Given the description of an element on the screen output the (x, y) to click on. 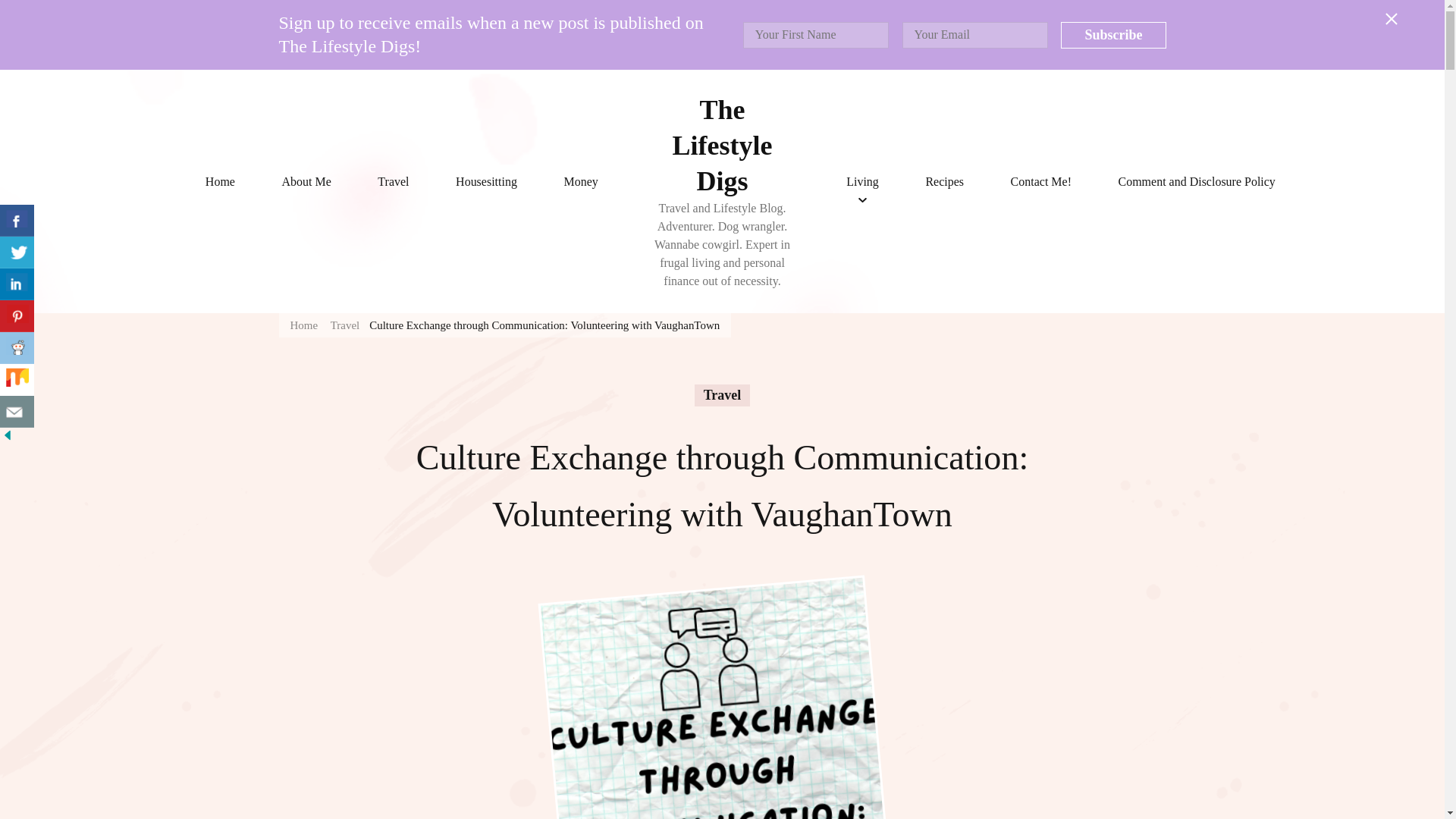
Subscribe (1113, 35)
Money (580, 181)
Travel (392, 181)
Contact Me! (1040, 181)
Travel (344, 324)
Home (220, 181)
Living (862, 181)
Subscribe (1113, 35)
Travel (722, 395)
About Me (307, 181)
Housesitting (486, 181)
Comment and Disclosure Policy (1196, 181)
Home (303, 324)
Recipes (944, 181)
The Lifestyle Digs (721, 145)
